Given the description of an element on the screen output the (x, y) to click on. 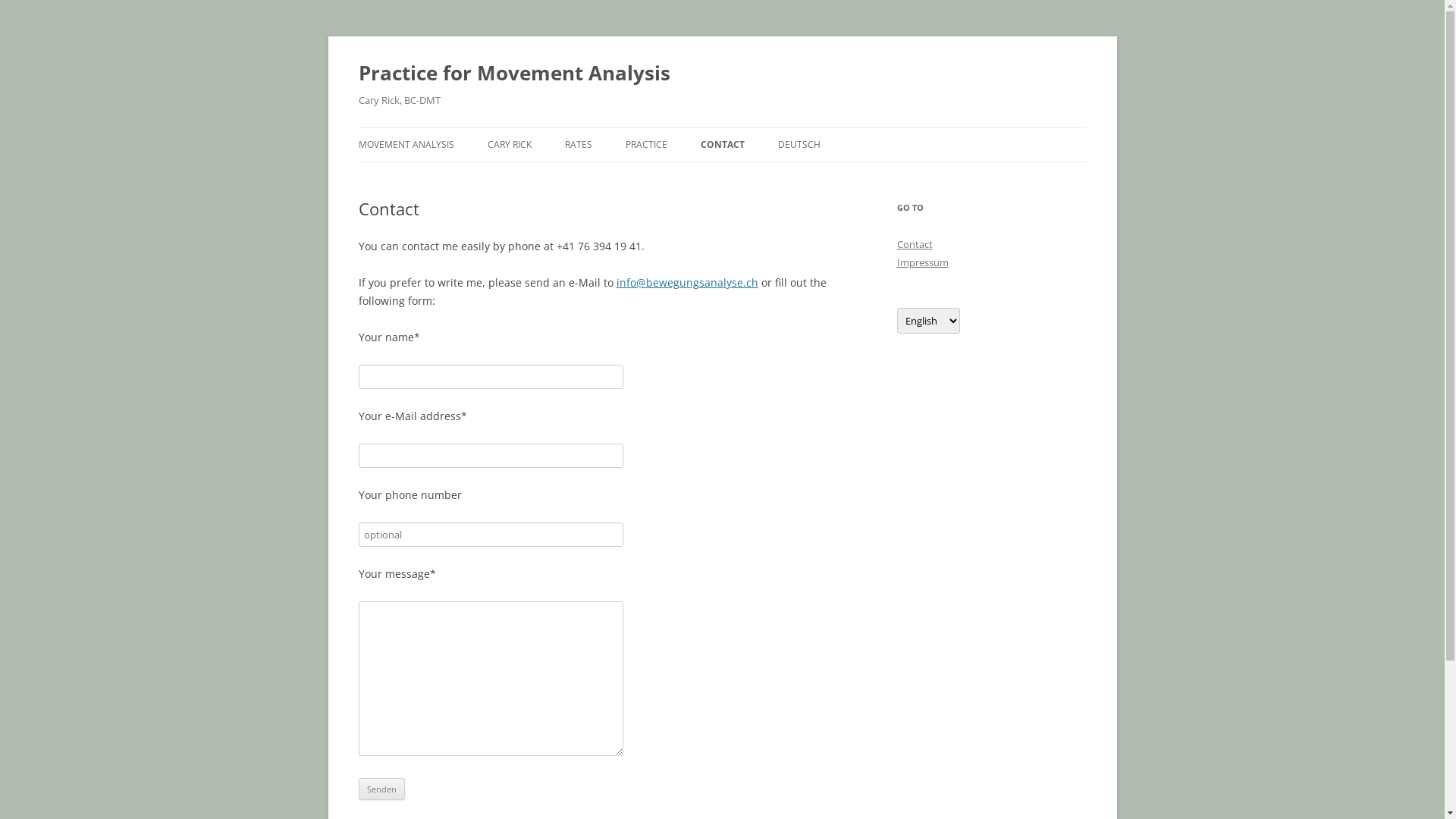
CONTACT Element type: text (722, 144)
CARY RICK Element type: text (508, 144)
Practice for Movement Analysis Element type: text (513, 72)
PRACTICE Element type: text (645, 144)
MOVEMENT ANALYSIS Element type: text (405, 144)
DEUTSCH Element type: text (799, 144)
Contact Element type: text (913, 244)
info@bewegungsanalyse.ch Element type: text (686, 282)
RATES Element type: text (577, 144)
Skip to content Element type: text (721, 127)
Impressum Element type: text (921, 262)
Senden Element type: text (380, 789)
